Given the description of an element on the screen output the (x, y) to click on. 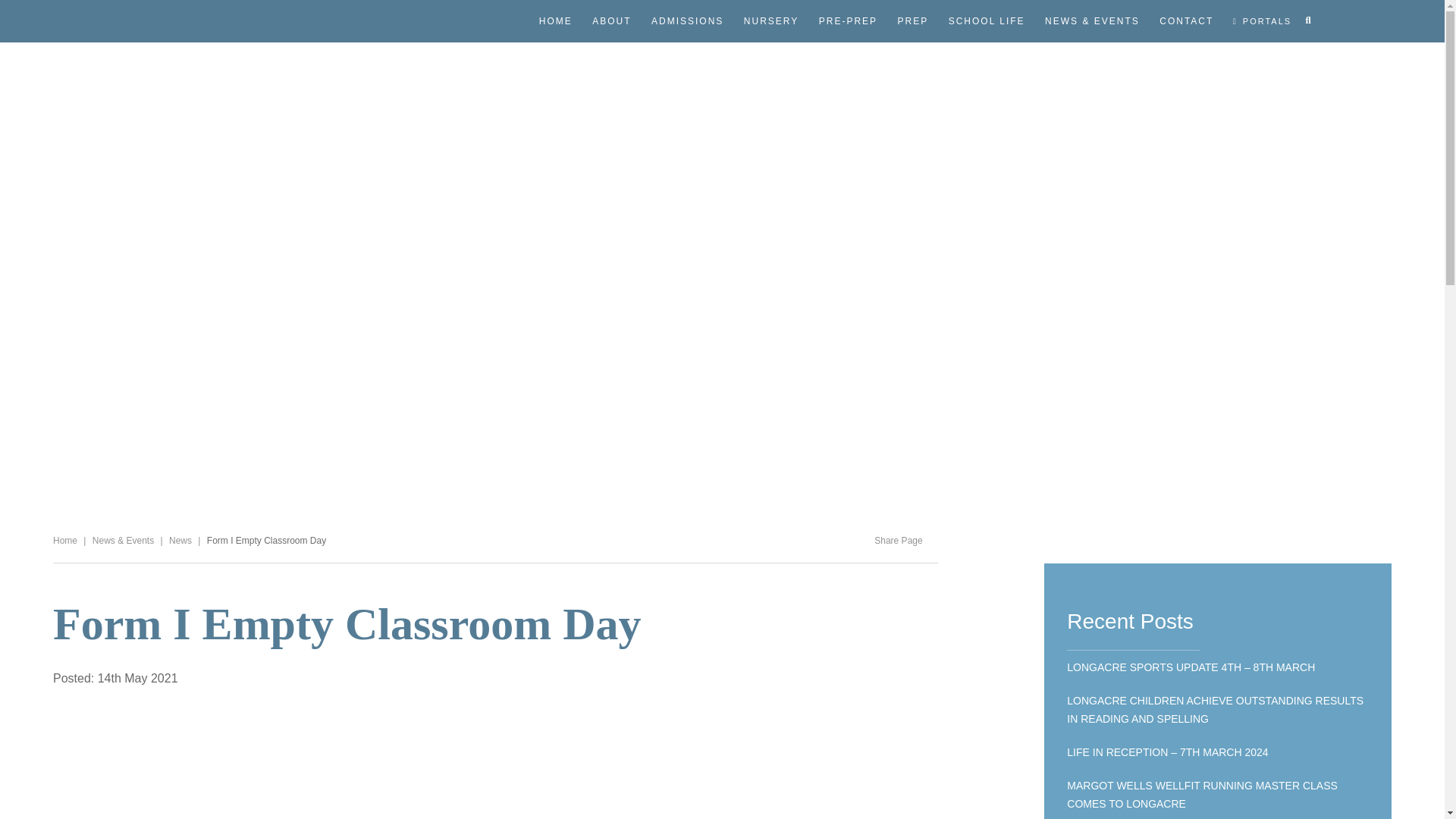
ADMISSIONS (687, 21)
ABOUT (611, 21)
HOME (555, 21)
Go to Longacre School. (64, 540)
PRE-PREP (847, 21)
Go to the News category archives. (180, 540)
NURSERY (770, 21)
